Given the description of an element on the screen output the (x, y) to click on. 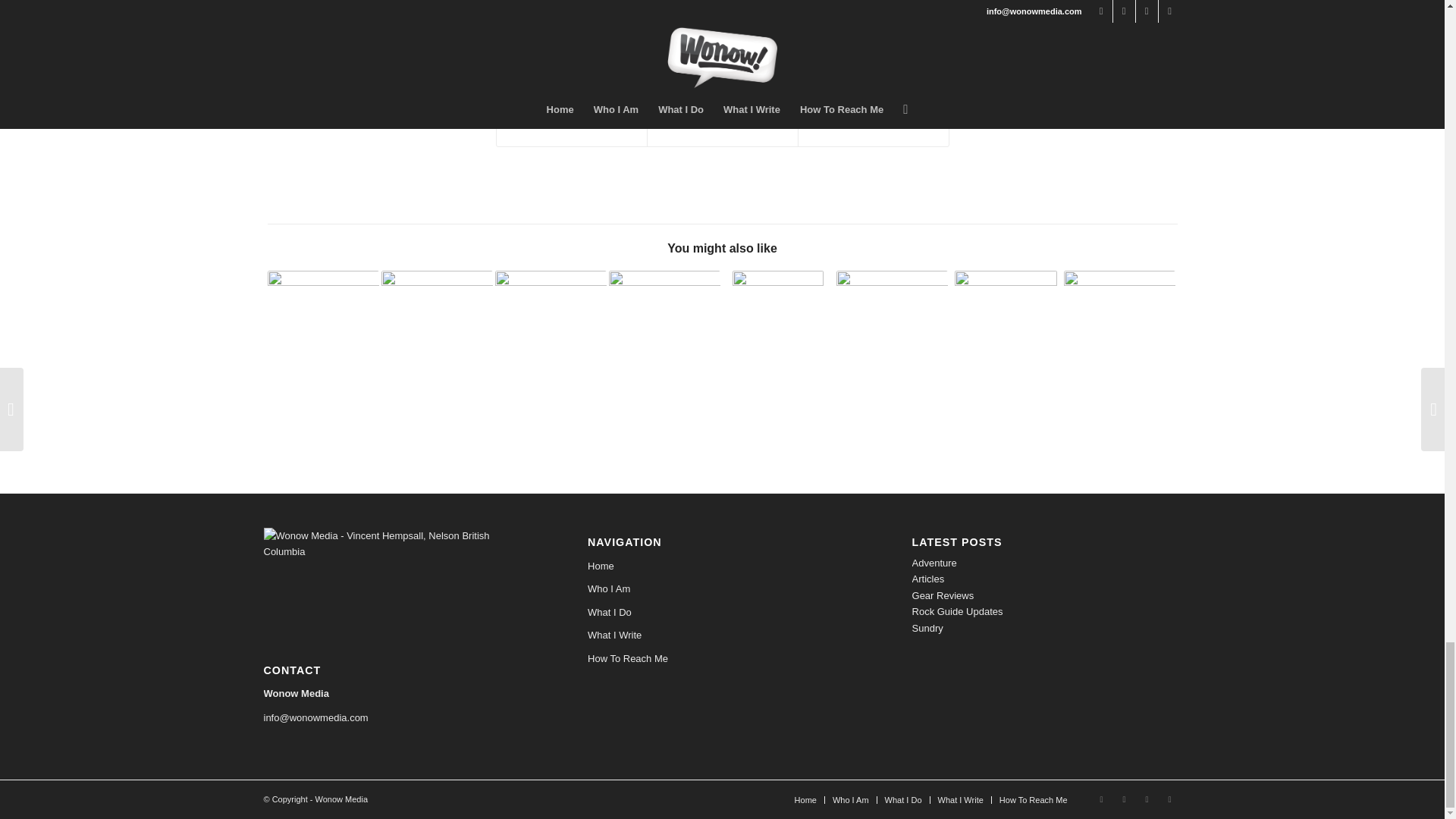
china bend (550, 23)
sport routes (835, 23)
sport climbing (770, 23)
nelson (597, 23)
rock climb (641, 23)
washington state (907, 23)
rock climbing (701, 23)
